Given the description of an element on the screen output the (x, y) to click on. 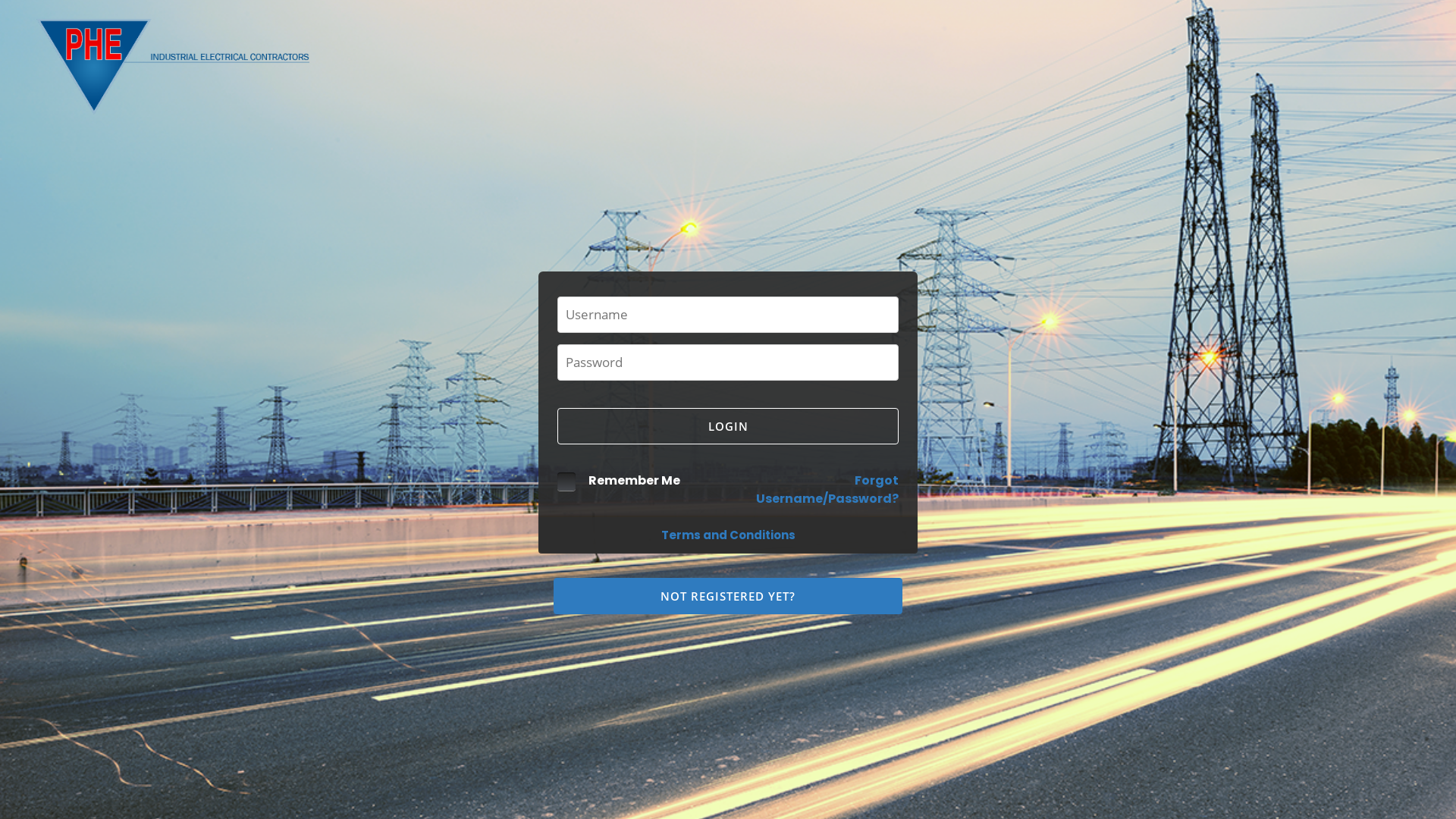
Forgot Username/Password? Element type: text (827, 489)
LOGIN Element type: text (727, 425)
NOT REGISTERED YET? Element type: text (727, 595)
Terms and Conditions Element type: text (728, 535)
